Given the description of an element on the screen output the (x, y) to click on. 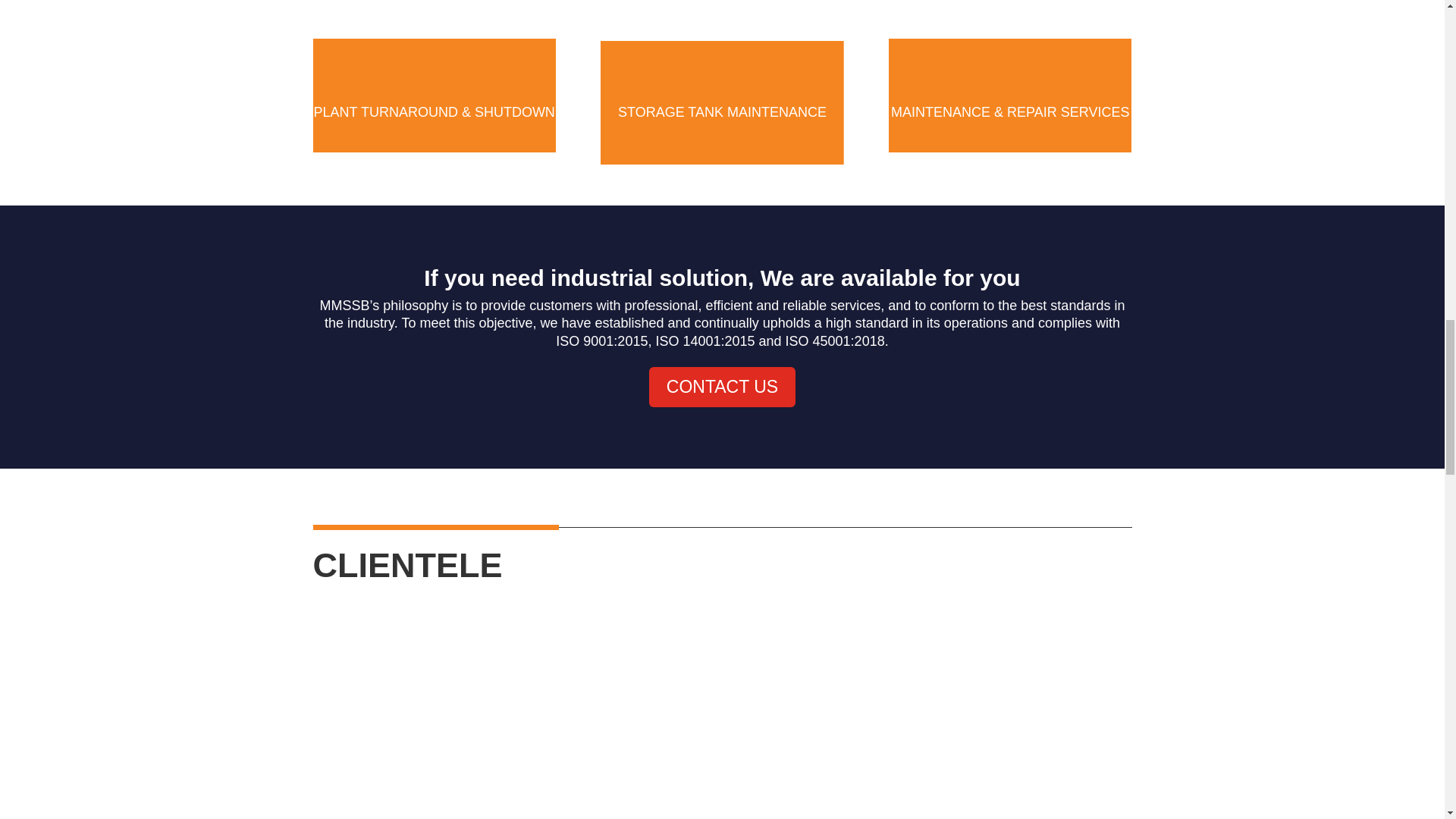
maintenance-and-repair (1009, 33)
CONTACT US (721, 386)
tank (721, 33)
plant-turnaround (433, 33)
